Given the description of an element on the screen output the (x, y) to click on. 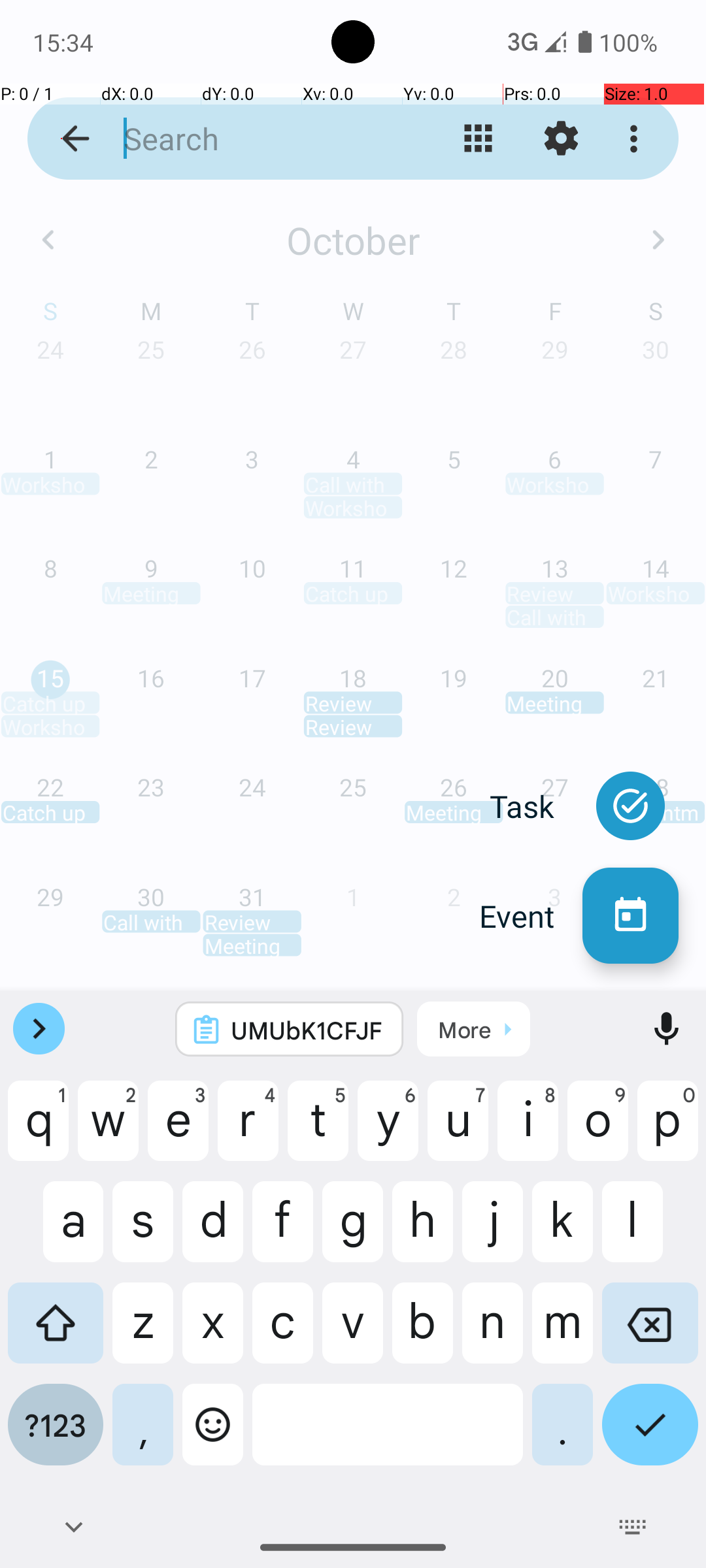
Task Element type: android.widget.TextView (535, 805)
Event Element type: android.widget.TextView (530, 915)
